Given the description of an element on the screen output the (x, y) to click on. 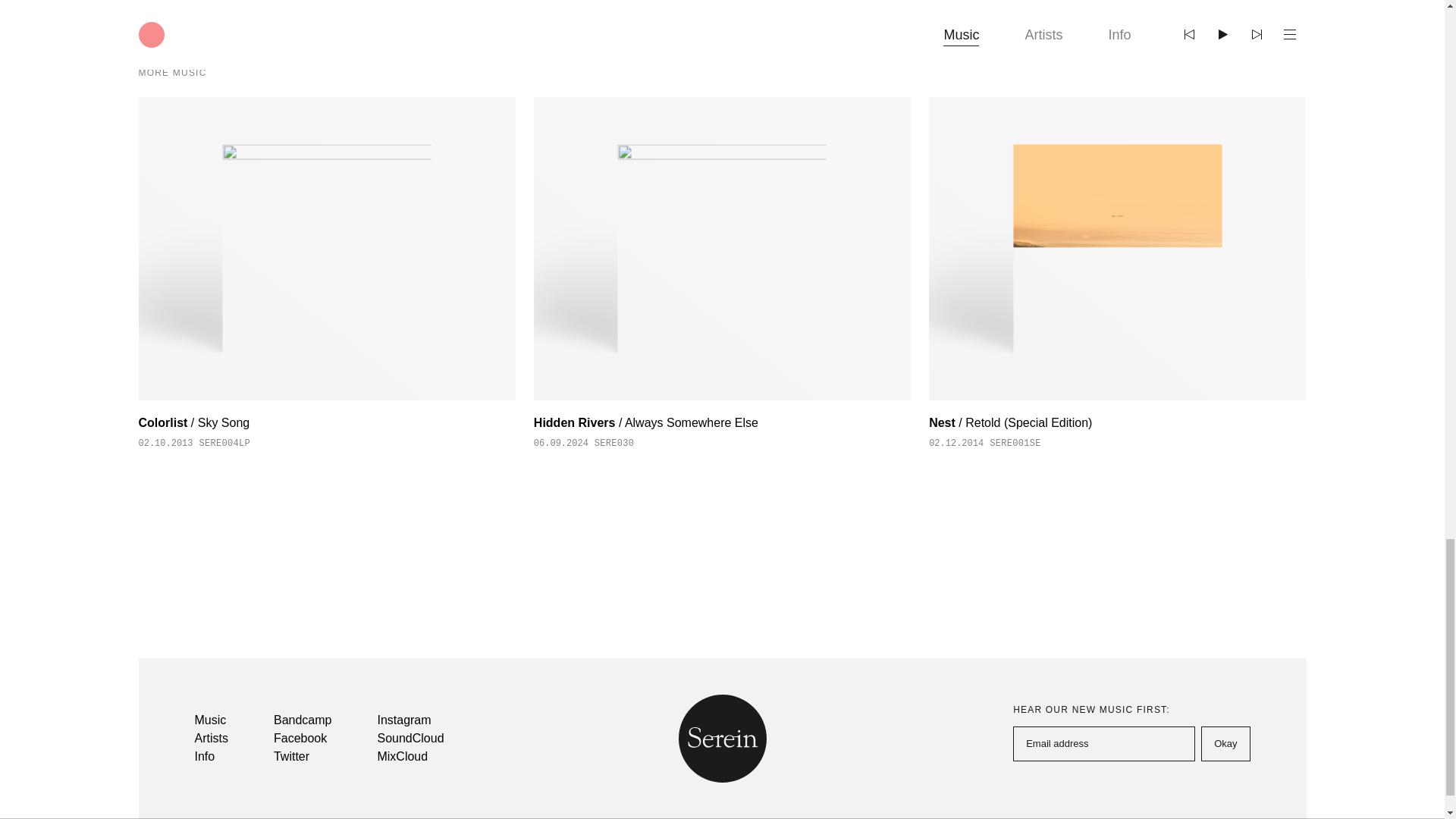
Info (203, 756)
Music (209, 719)
Artists (210, 738)
Instagram (403, 719)
SoundCloud (410, 738)
Twitter (290, 756)
Bandcamp (302, 719)
MixCloud (402, 756)
Okay (1225, 743)
Facebook (299, 738)
